Given the description of an element on the screen output the (x, y) to click on. 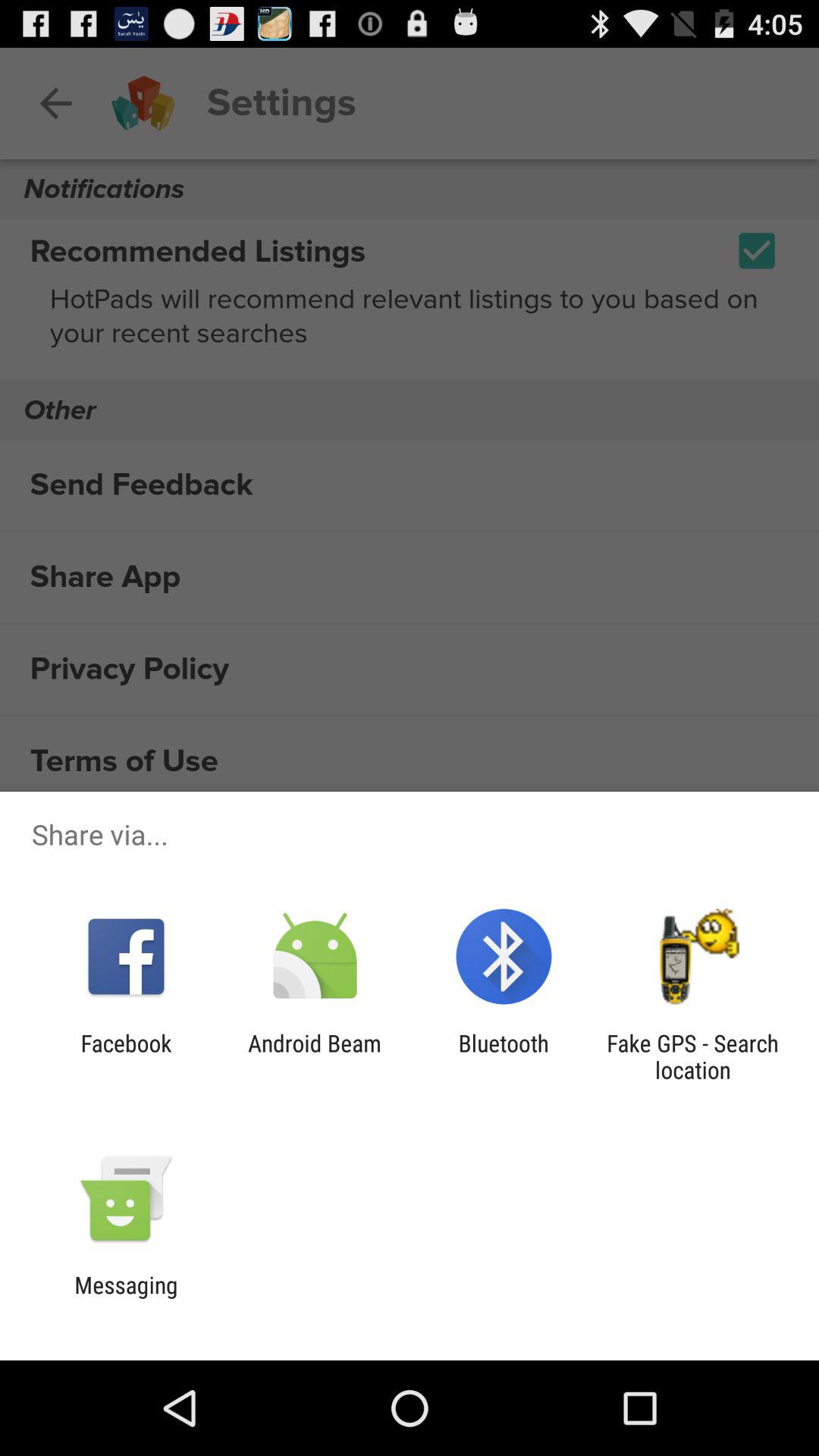
select item next to facebook app (314, 1056)
